Given the description of an element on the screen output the (x, y) to click on. 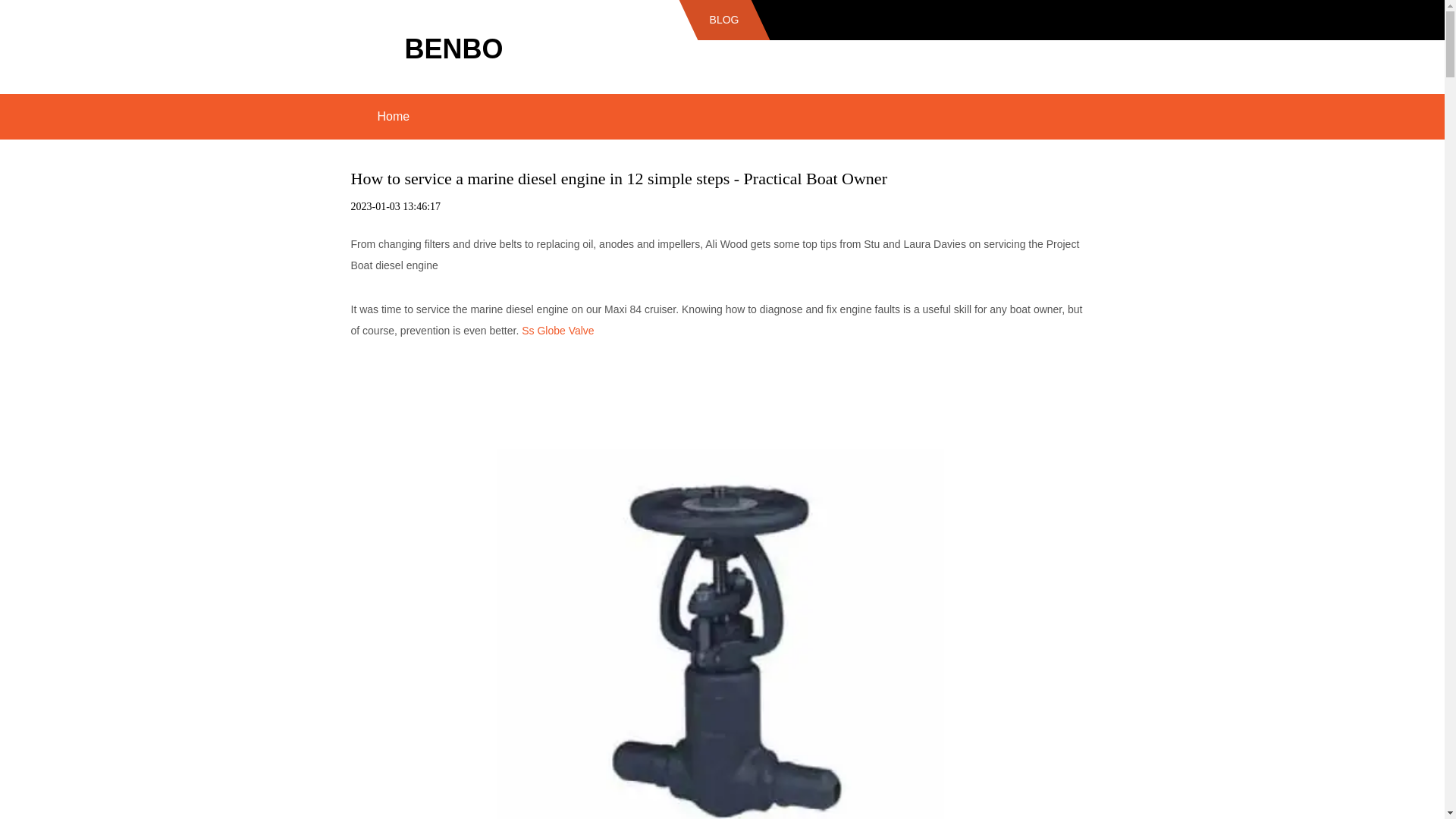
Home (392, 116)
Ss Globe Valve (557, 330)
